Given the description of an element on the screen output the (x, y) to click on. 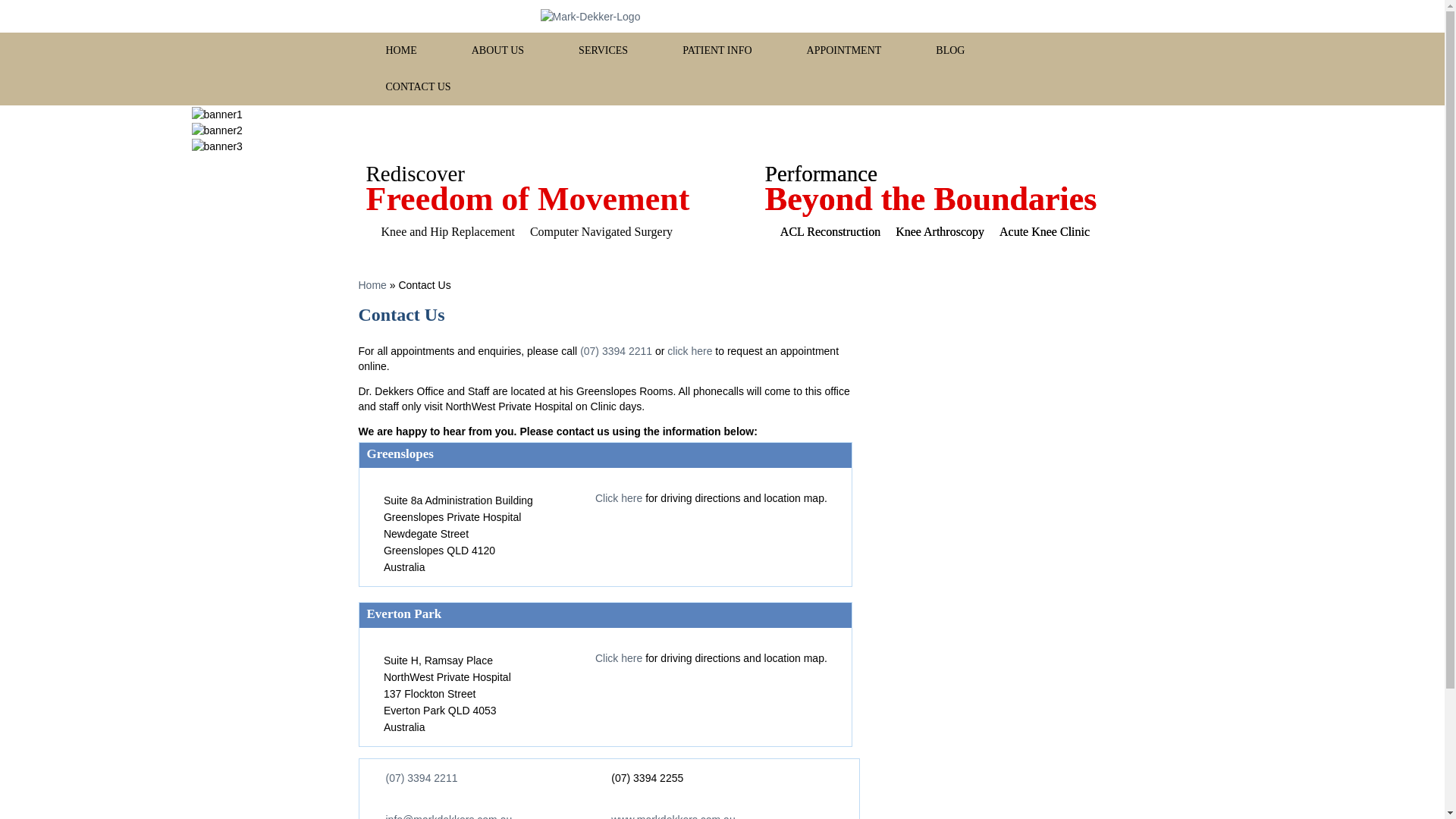
APPOINTMENT (843, 50)
ACL Reconstruction (822, 231)
Greenslopes (399, 452)
Knee and Hip Replacement (439, 231)
click here (688, 350)
Computer Navigated Surgery (593, 231)
SERVICES (603, 50)
HOME (401, 50)
PATIENT INFO (716, 50)
Home (371, 285)
